Given the description of an element on the screen output the (x, y) to click on. 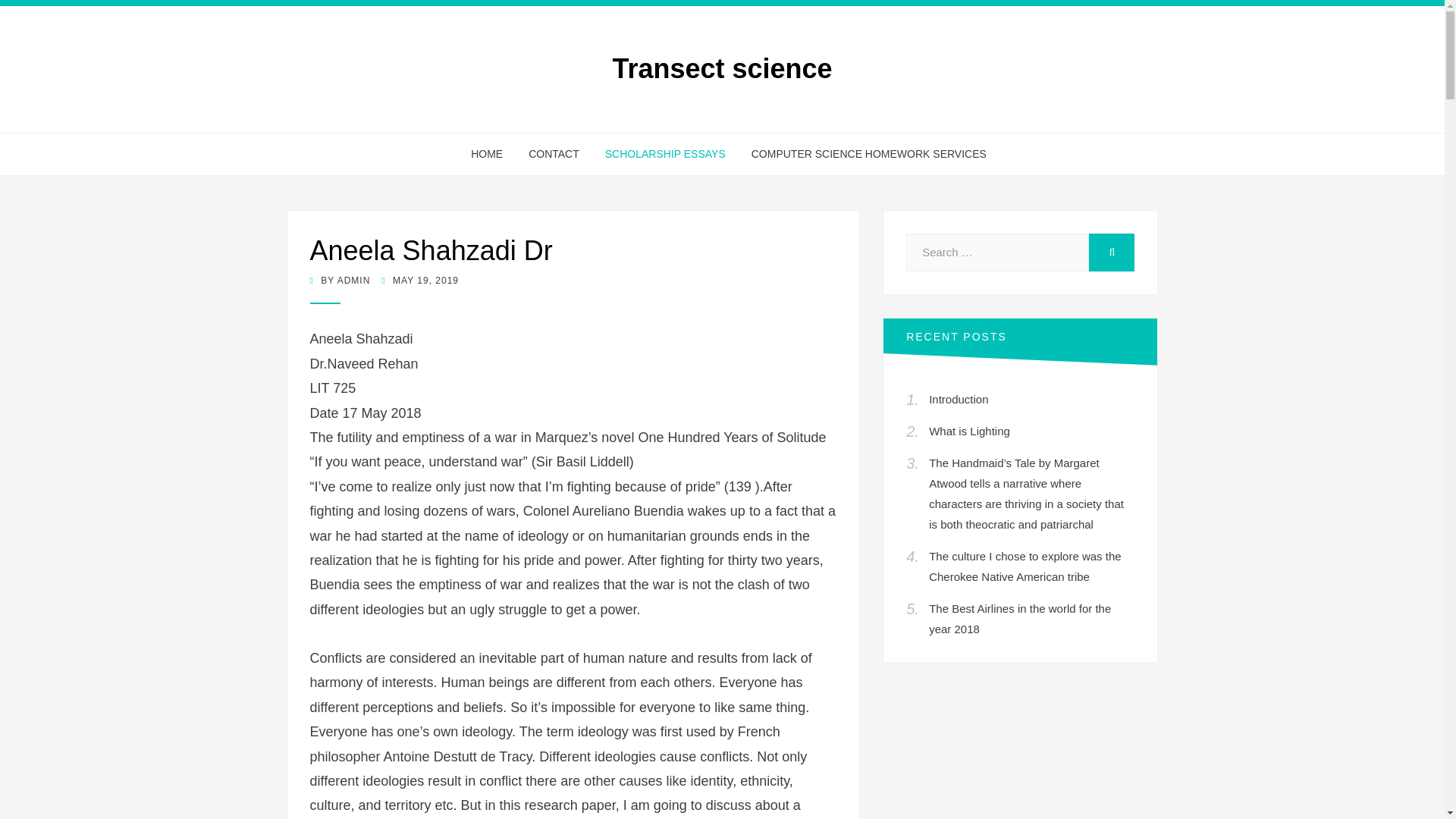
What is Lighting (969, 431)
HOME (486, 153)
ADMIN (354, 280)
Transect science (721, 68)
The Best Airlines in the world for the year 2018 (1019, 618)
COMPUTER SCIENCE HOMEWORK SERVICES (862, 153)
Transect science (721, 68)
Introduction (958, 399)
SEARCH (1111, 252)
